Given the description of an element on the screen output the (x, y) to click on. 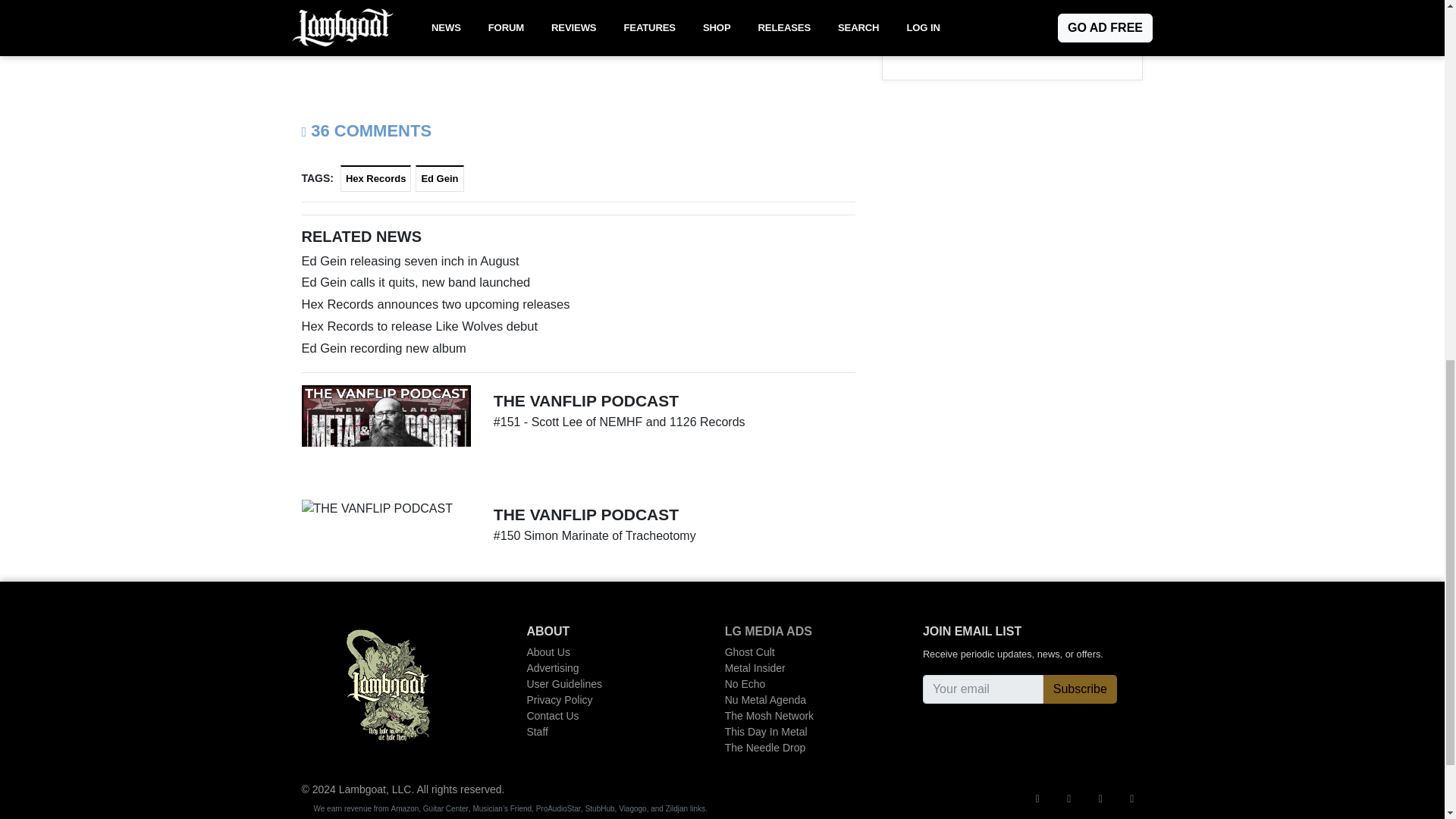
Hex Records announces two upcoming releases (578, 303)
Hex Records (375, 178)
About Us (586, 652)
more top news (929, 50)
Steve Albini honored in Chicago with street named after him (1012, 19)
Ed Gein releasing seven inch in August (578, 261)
Ed Gein calls it quits, new band launched (578, 281)
Hex Records to release Like Wolves debut (578, 325)
36 COMMENTS (366, 130)
Ed Gein (438, 178)
Ed Gein recording new album (578, 348)
Subscribe (1079, 688)
Advertising (586, 668)
